Given the description of an element on the screen output the (x, y) to click on. 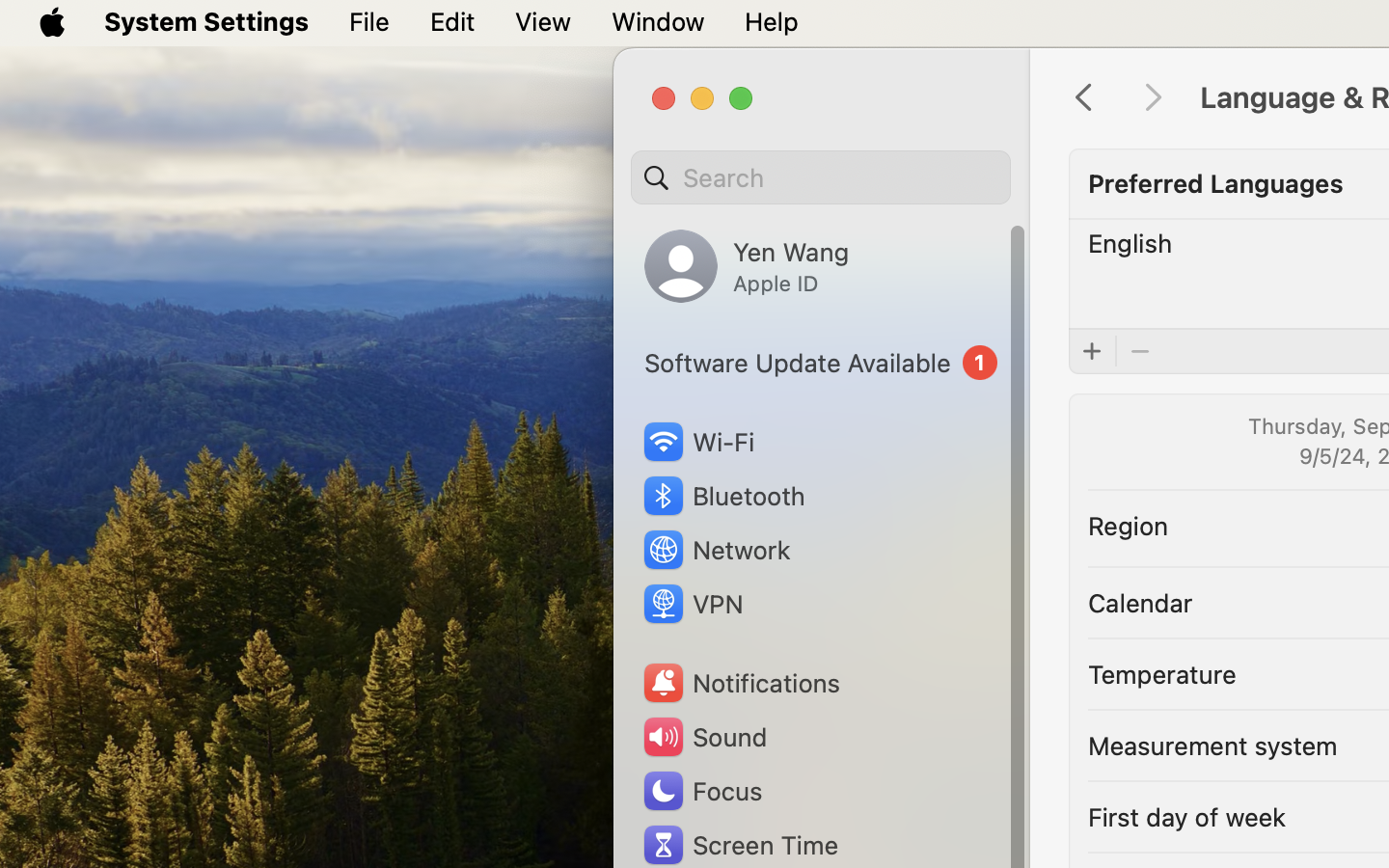
Screen Time Element type: AXStaticText (739, 844)
Sound Element type: AXStaticText (703, 736)
Bluetooth Element type: AXStaticText (723, 495)
Temperature Element type: AXStaticText (1162, 672)
Region Element type: AXStaticText (1128, 524)
